Given the description of an element on the screen output the (x, y) to click on. 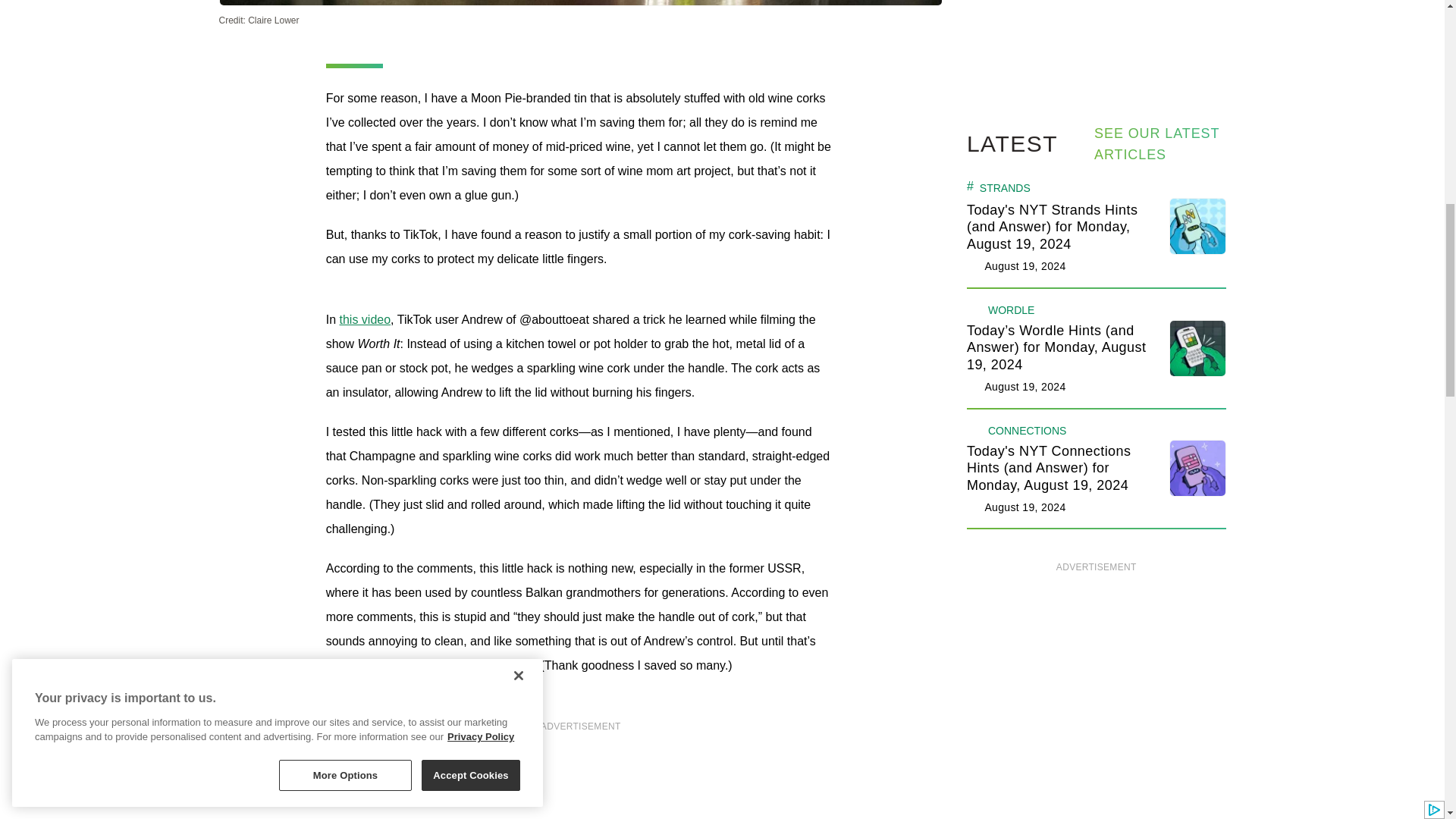
3rd party ad content (1095, 701)
3rd party ad content (1095, 24)
3rd party ad content (580, 780)
